Given the description of an element on the screen output the (x, y) to click on. 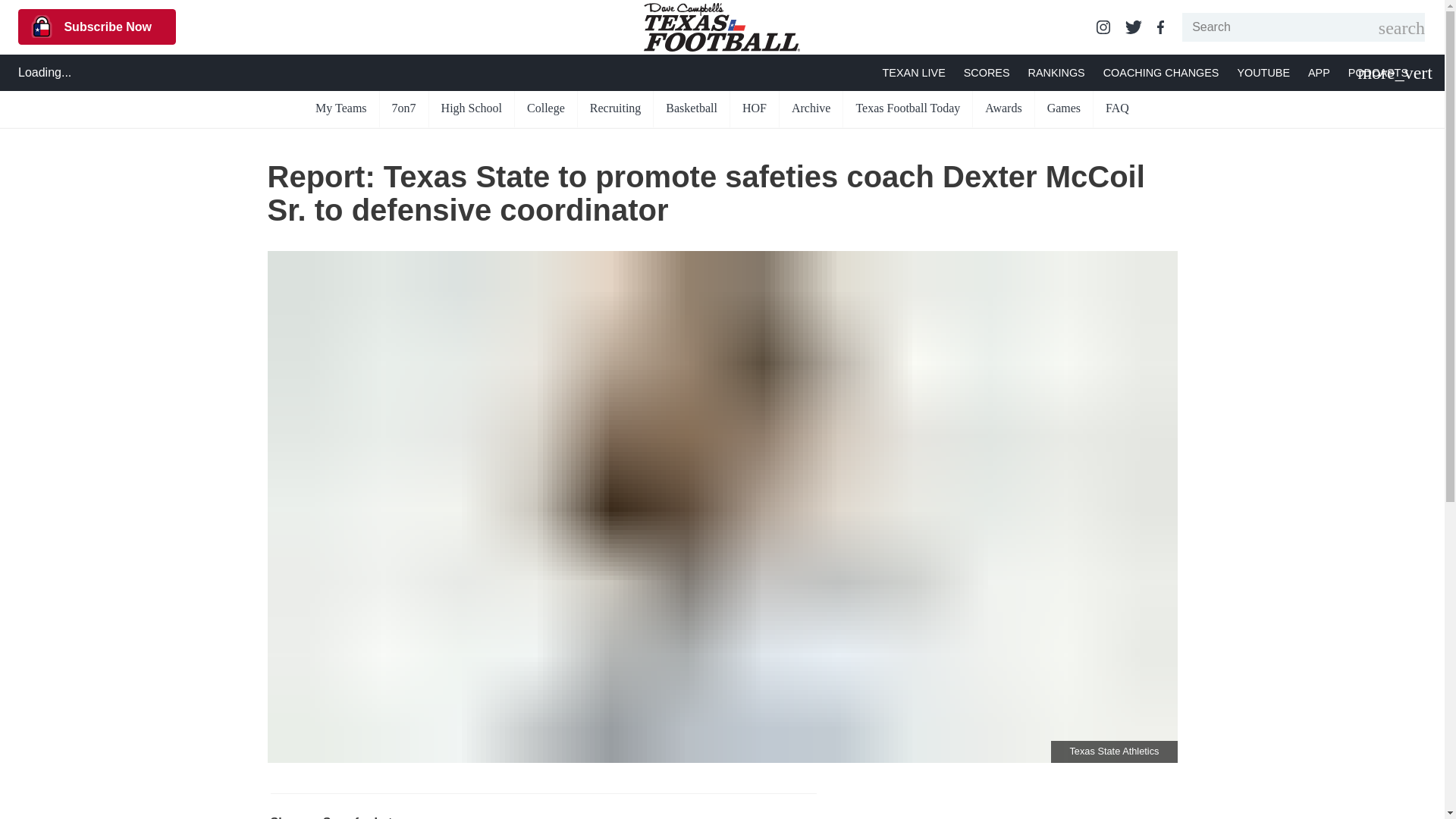
SCORES (986, 72)
COACHING CHANGES (1161, 72)
PODCASTS (1377, 72)
Subscribe Now (96, 27)
RANKINGS (1055, 72)
YOUTUBE (1263, 72)
TEXAN LIVE (913, 72)
